Given the description of an element on the screen output the (x, y) to click on. 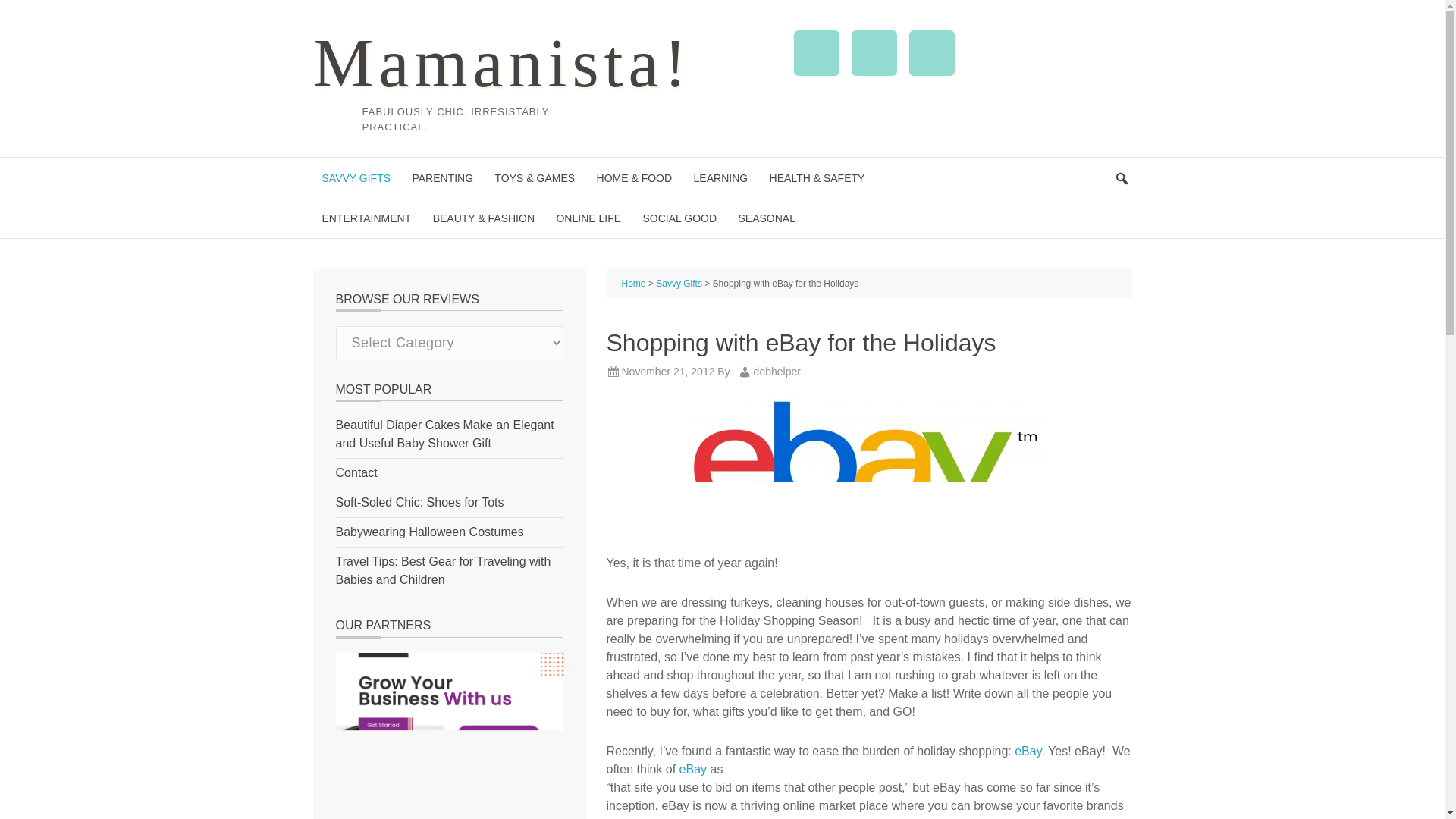
LEARNING (720, 178)
Mamanista! (502, 62)
Mamanista! (502, 62)
Home (633, 283)
ENTERTAINMENT (366, 218)
eBay (1027, 750)
Savvy Gifts (678, 283)
Soft-Soled Chic: Shoes for Tots (418, 502)
ONLINE LIFE (588, 218)
SOCIAL GOOD (679, 218)
